Given the description of an element on the screen output the (x, y) to click on. 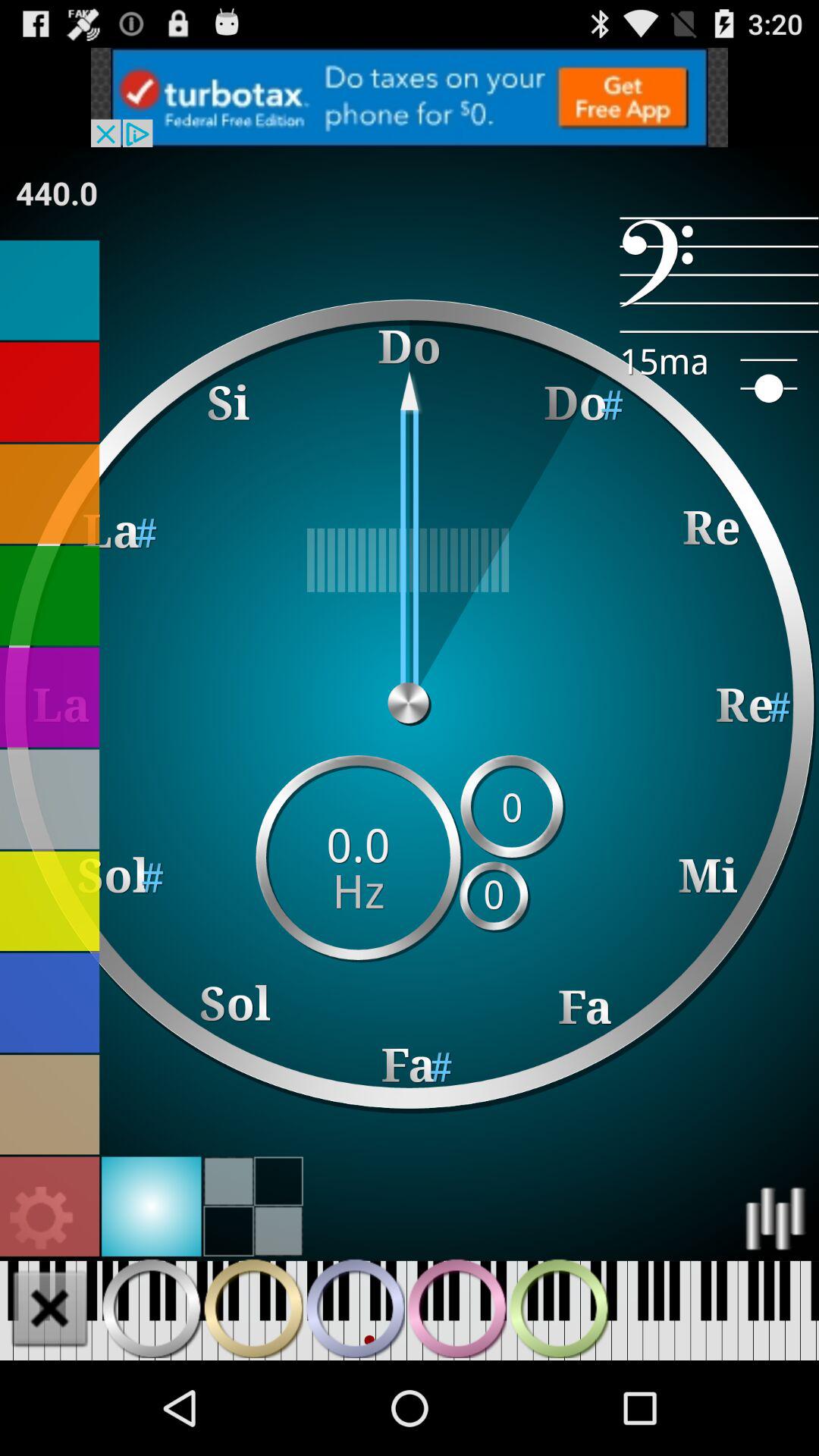
choose app next to 440.0 app (719, 274)
